Given the description of an element on the screen output the (x, y) to click on. 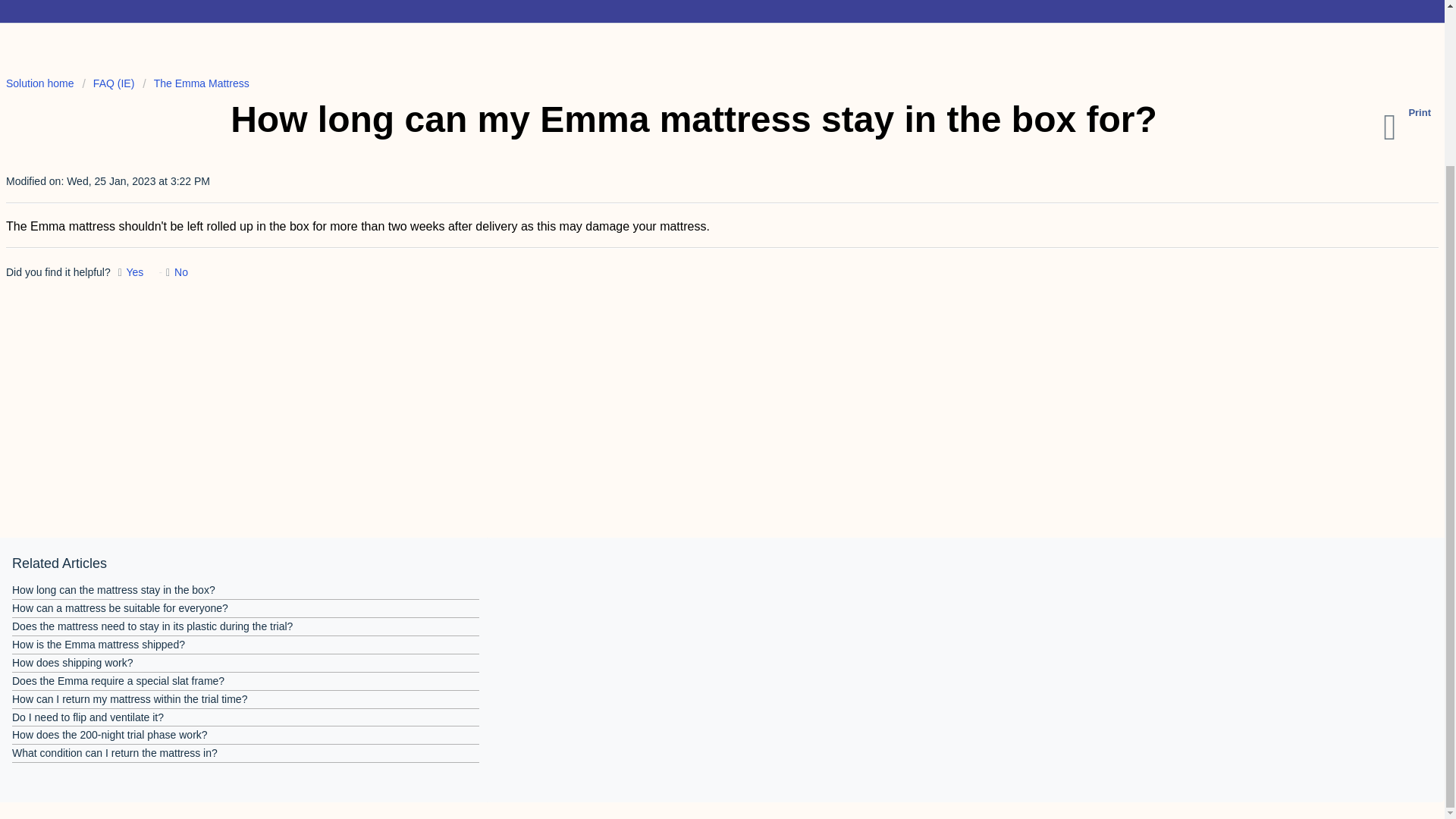
Do I need to flip and ventilate it? (87, 717)
How can I return my mattress within the trial time? (129, 698)
How is the Emma mattress shipped? (97, 644)
Print (1409, 127)
The Emma Mattress (195, 82)
Solution home (41, 82)
Does the Emma require a special slat frame? (117, 680)
How can a mattress be suitable for everyone? (119, 607)
Print this Article (1409, 127)
How does shipping work? (72, 662)
